Given the description of an element on the screen output the (x, y) to click on. 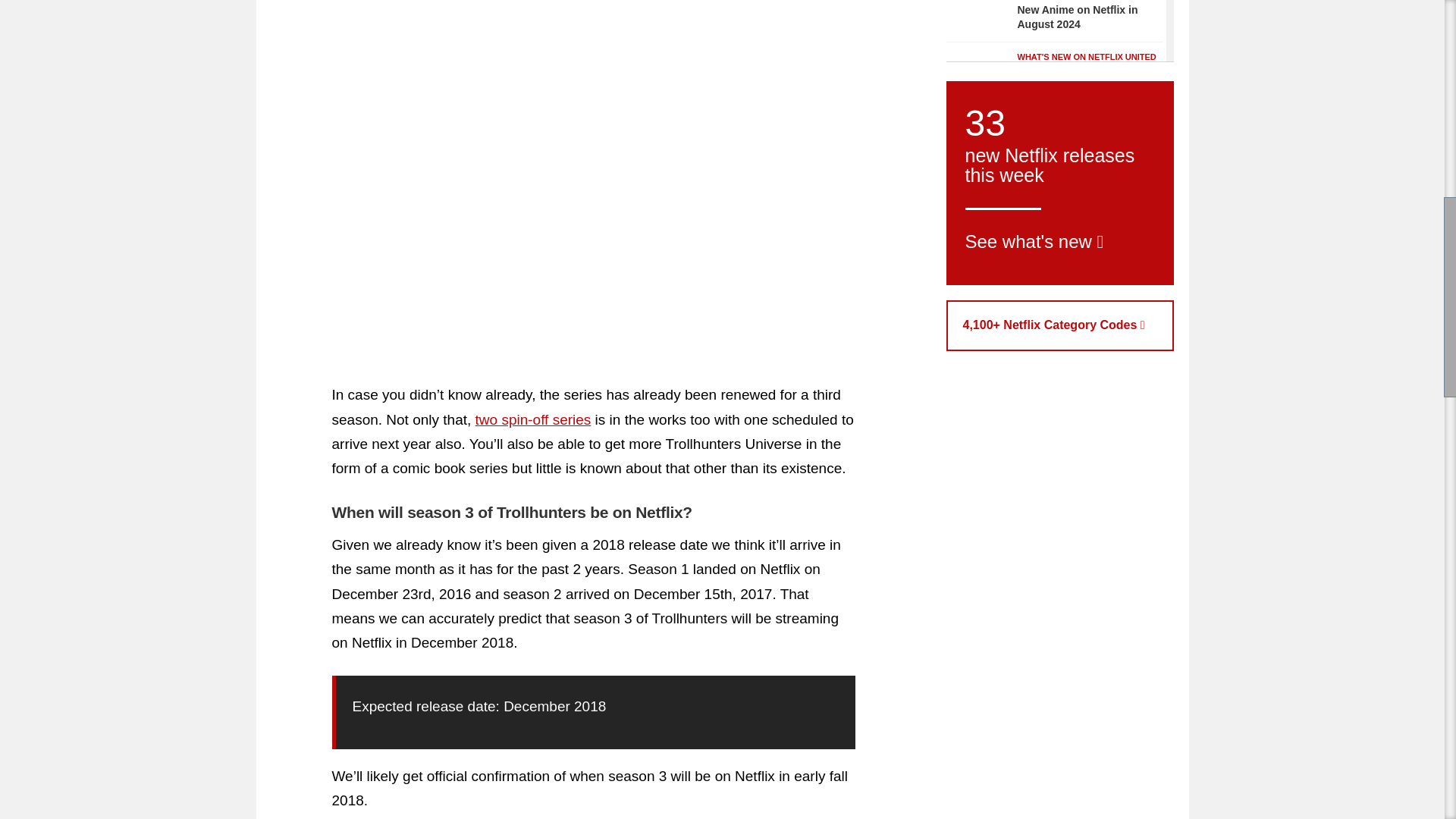
New Anime on Netflix in August 2024 (1077, 17)
10 Most Anticipated Upcoming Netflix Movies (1079, 158)
New Anime on Netflix in August 2024 (976, 16)
two spin-off series (533, 419)
10 Most Anticipated Upcoming Netflix Movies (976, 158)
